Given the description of an element on the screen output the (x, y) to click on. 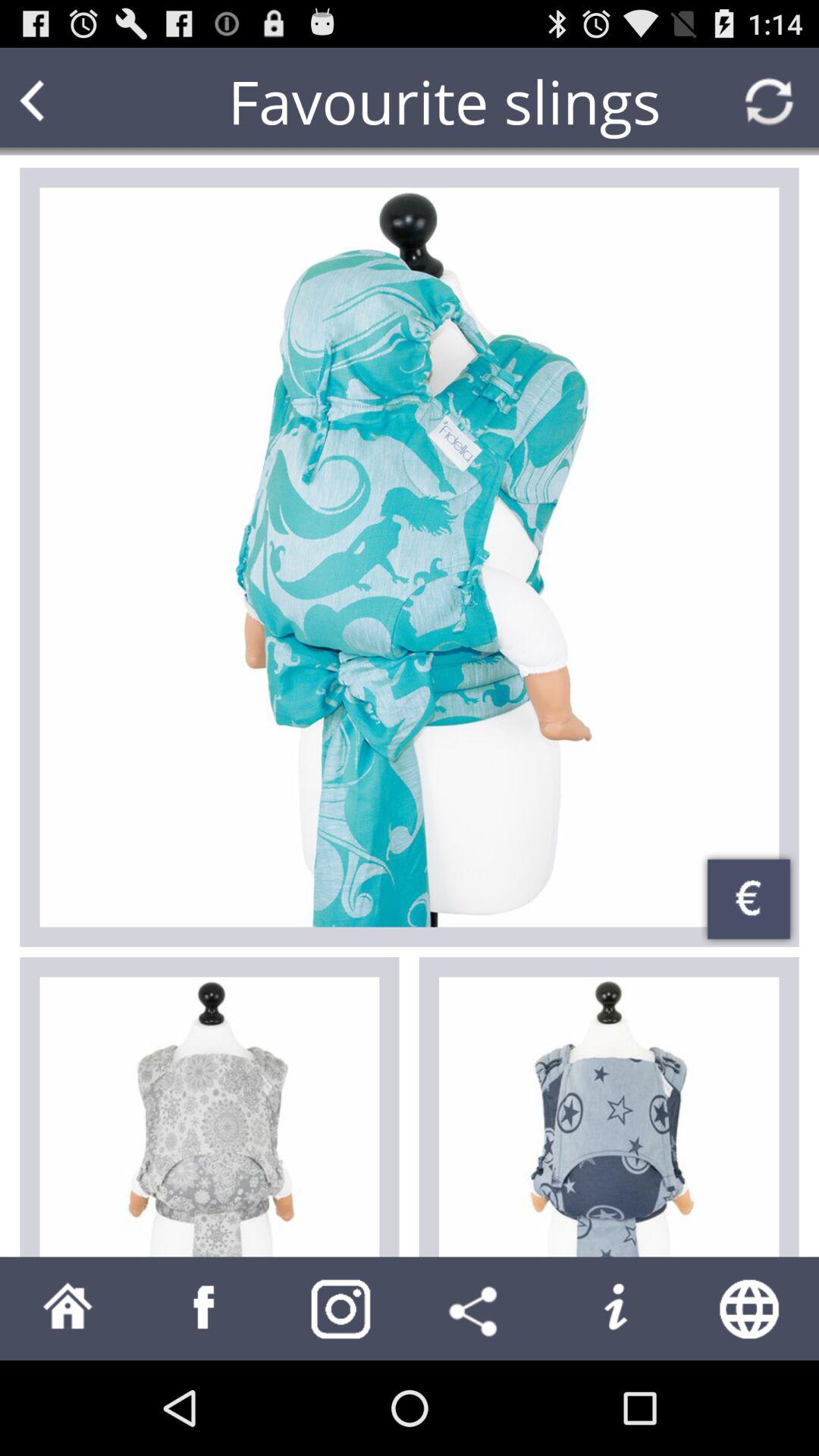
go back (61, 101)
